Given the description of an element on the screen output the (x, y) to click on. 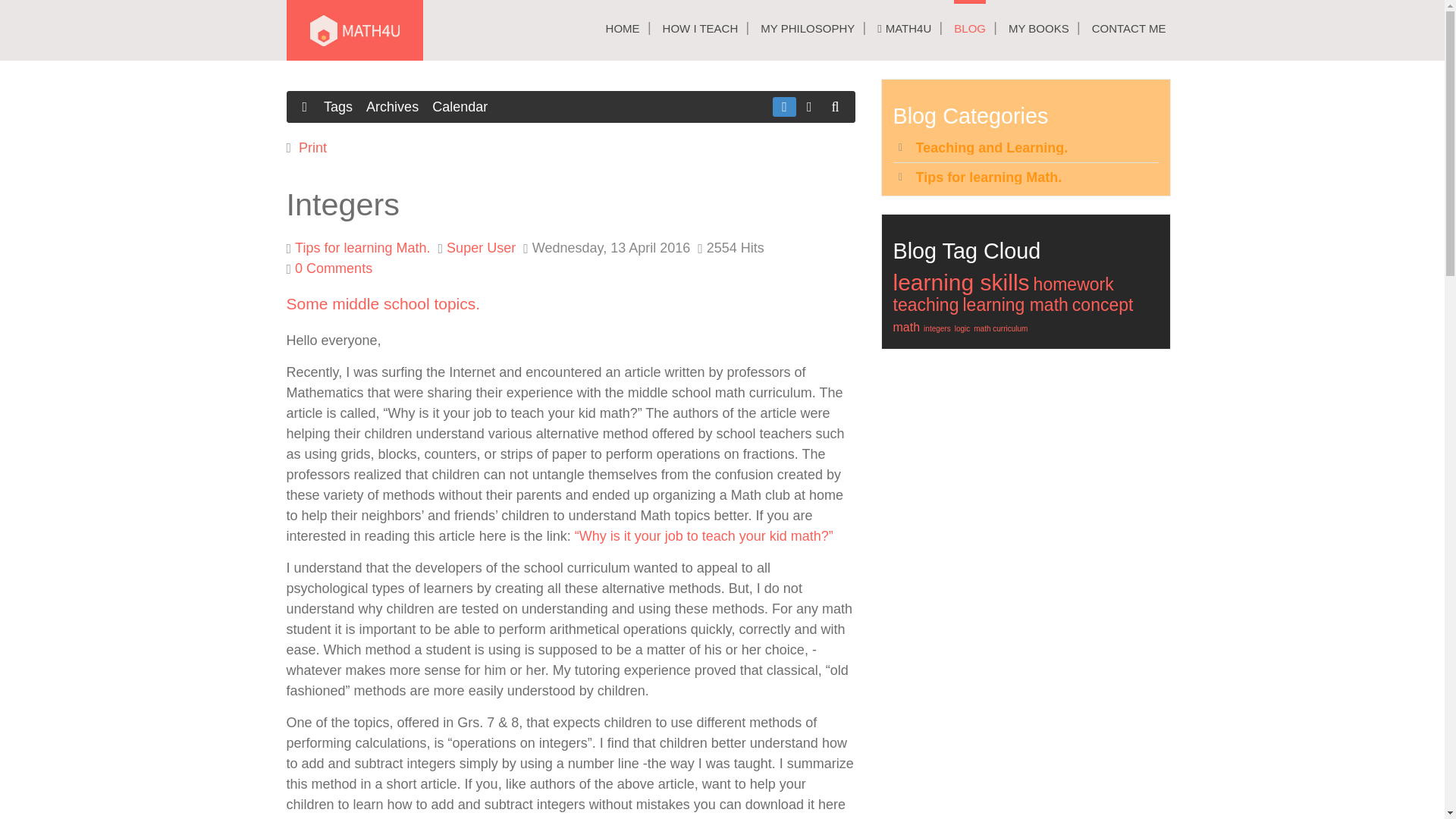
Tags (337, 107)
Calendar (459, 107)
HOW I TEACH (700, 28)
Archives (392, 107)
BLOG (969, 28)
MY PHILOSOPHY (807, 28)
CONTACT ME (1129, 28)
0 Comments (333, 268)
Print (312, 147)
Print (312, 147)
HOME (622, 28)
MY BOOKS (1038, 28)
Super User (480, 247)
Tips for learning Math. (362, 247)
MATH4U (904, 28)
